Given the description of an element on the screen output the (x, y) to click on. 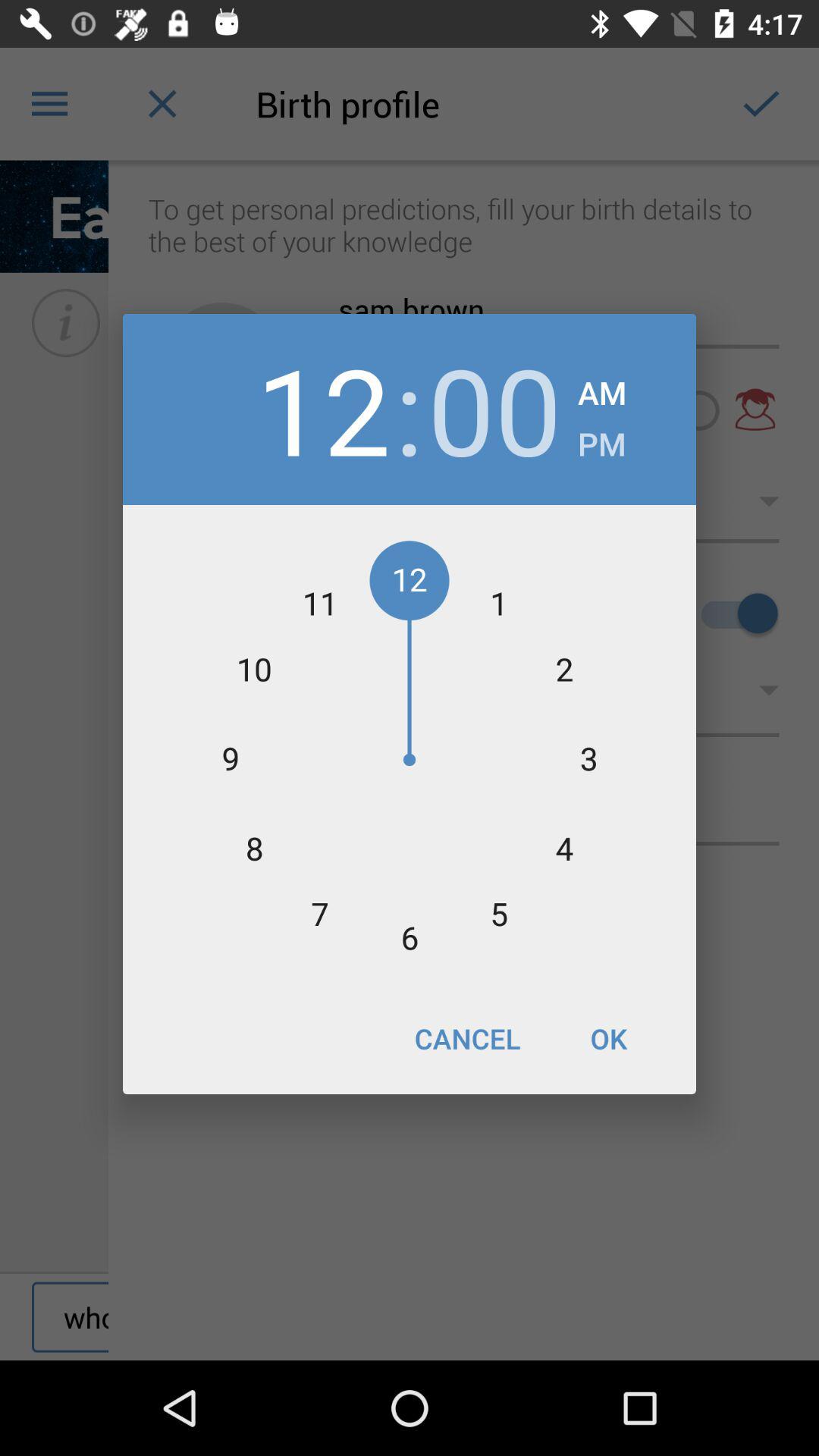
open ok item (608, 1038)
